Given the description of an element on the screen output the (x, y) to click on. 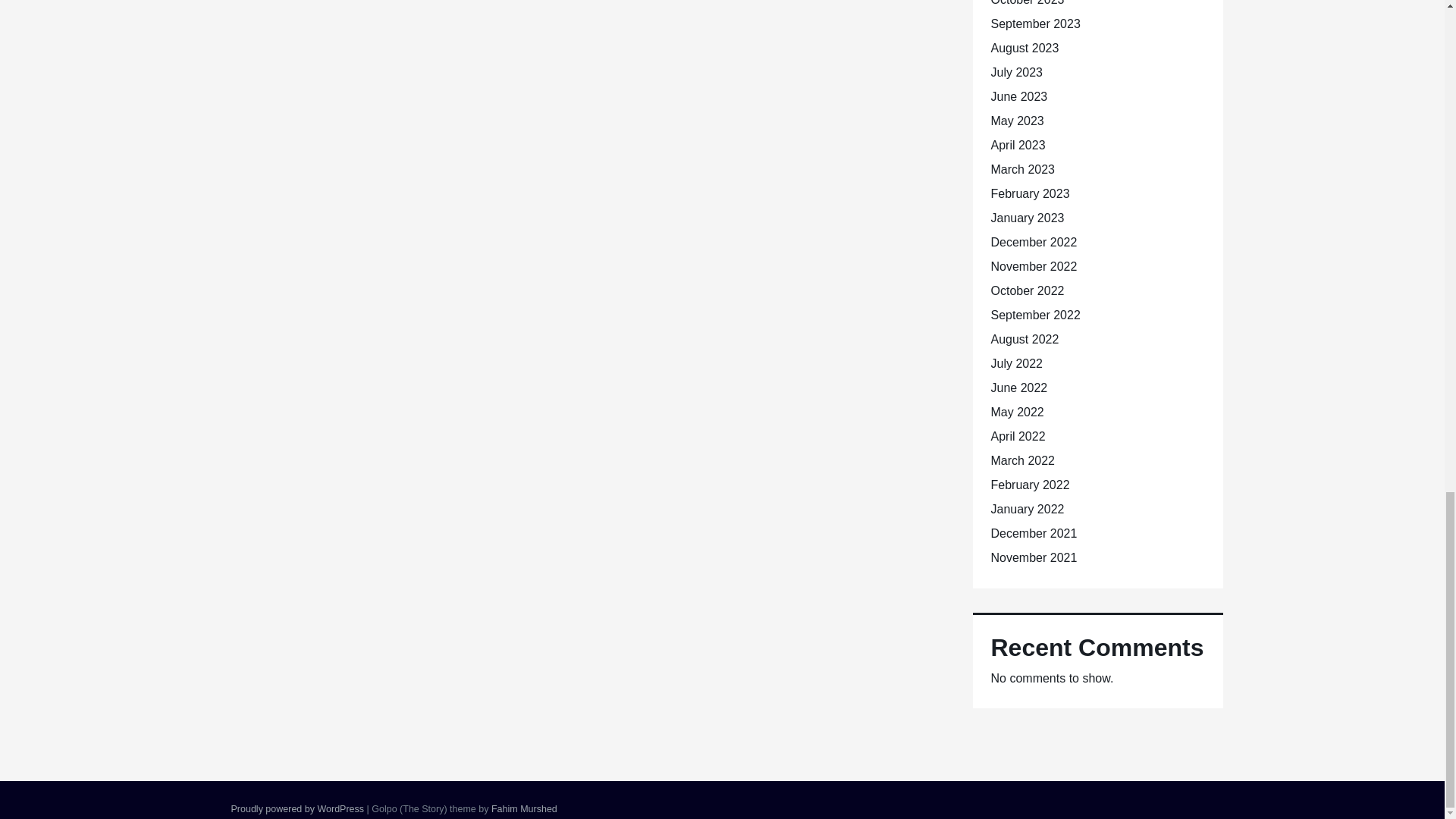
January 2023 (1027, 217)
May 2023 (1016, 120)
November 2022 (1033, 266)
December 2022 (1033, 241)
July 2023 (1016, 72)
August 2023 (1024, 47)
October 2022 (1027, 290)
October 2023 (1027, 2)
April 2023 (1017, 144)
March 2023 (1022, 169)
February 2023 (1029, 193)
September 2023 (1035, 23)
June 2023 (1018, 96)
